Given the description of an element on the screen output the (x, y) to click on. 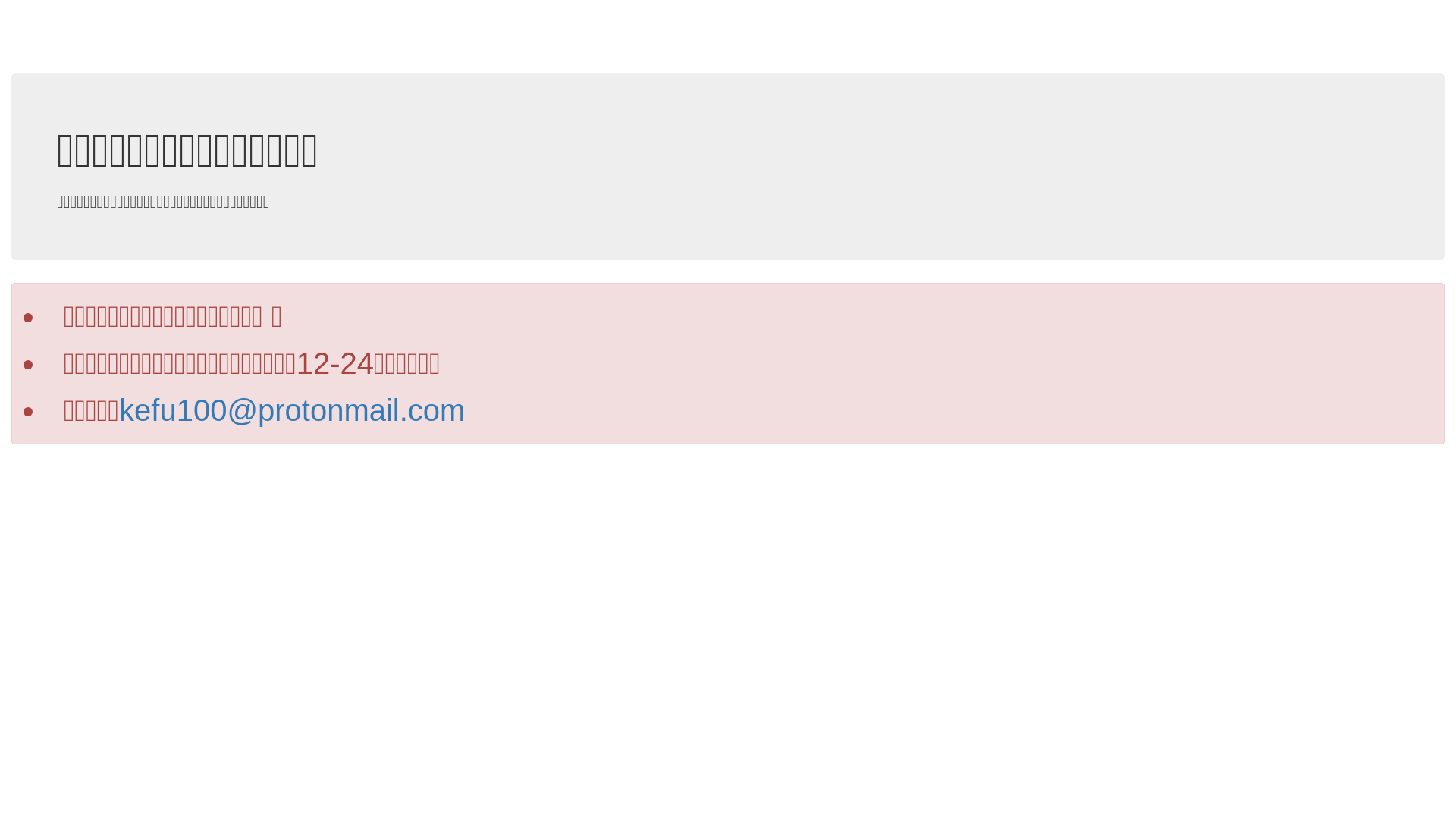
kefu100@protonmail.com Element type: text (291, 409)
